Given the description of an element on the screen output the (x, y) to click on. 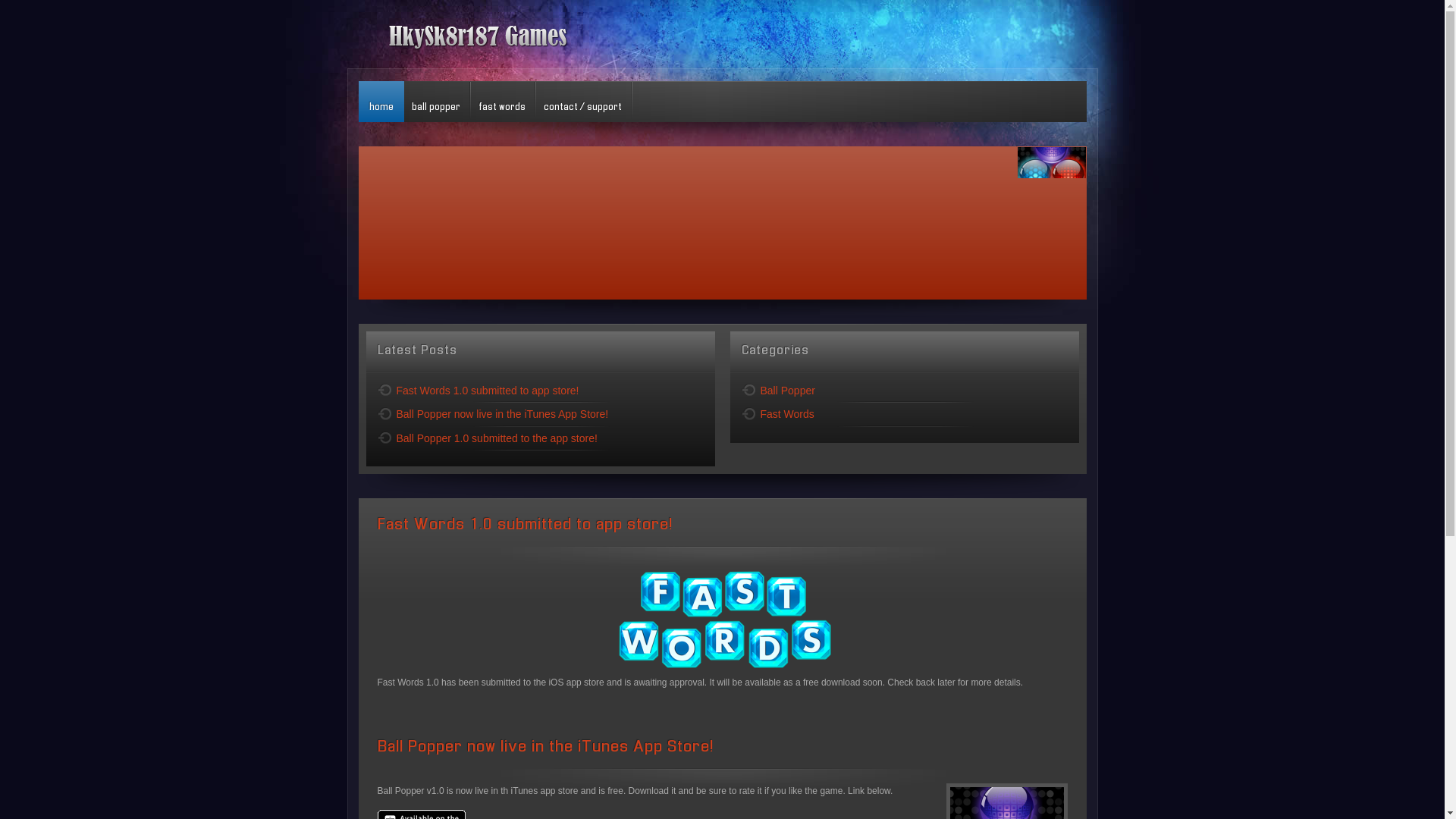
ball popper Element type: text (435, 101)
Ball Popper now live in the iTunes App Store! Element type: text (540, 414)
fast words Element type: text (501, 101)
Ball Popper now live in the iTunes App Store! Element type: text (545, 747)
Fast Words Element type: text (904, 414)
home Element type: text (380, 101)
Fast Words 1.0 submitted to app store! Element type: text (540, 390)
Ball Popper Element type: text (904, 390)
fastwords_logo Element type: hover (721, 617)
Fast Words 1.0 submitted to app store! Element type: text (524, 524)
Ball Popper 1.0 submitted to the app store! Element type: text (540, 438)
contact / support Element type: text (581, 101)
